Given the description of an element on the screen output the (x, y) to click on. 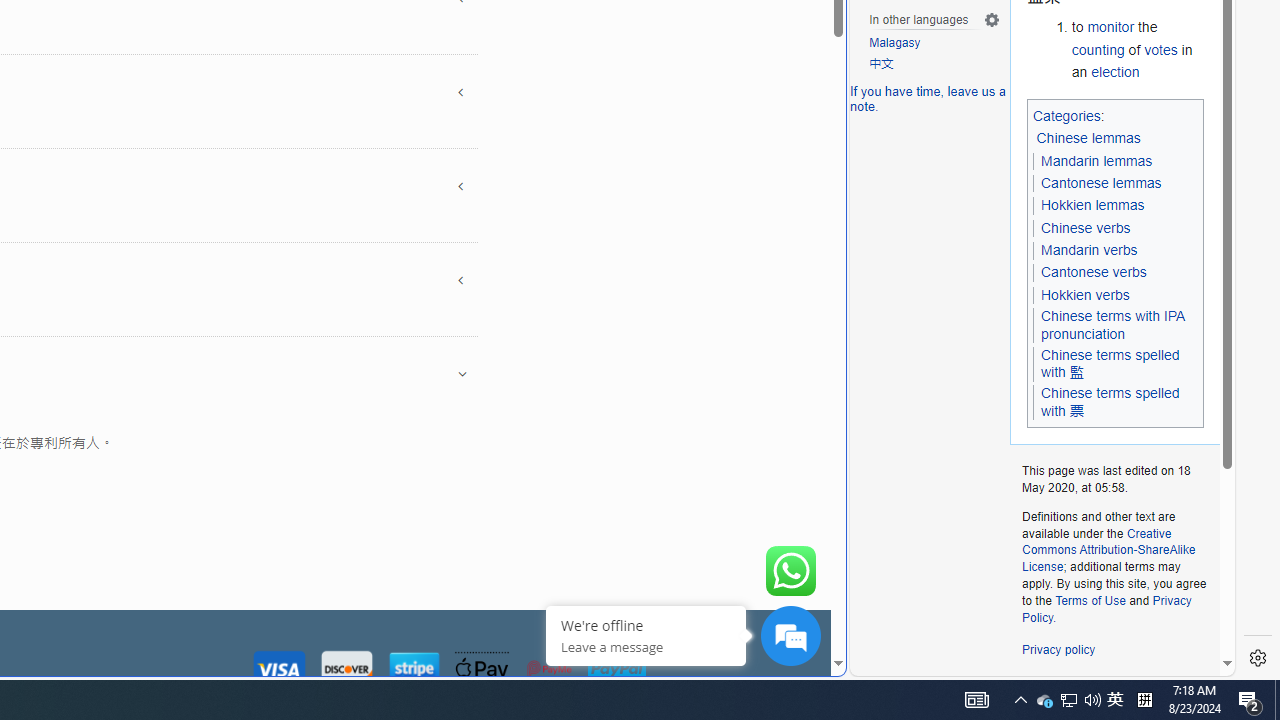
Privacy Policy. (1106, 608)
Mandarin lemmas (1096, 160)
Privacy policy (1058, 650)
Hokkien verbs (1084, 295)
Mandarin lemmas (1095, 161)
Privacy policy (1058, 650)
